Given the description of an element on the screen output the (x, y) to click on. 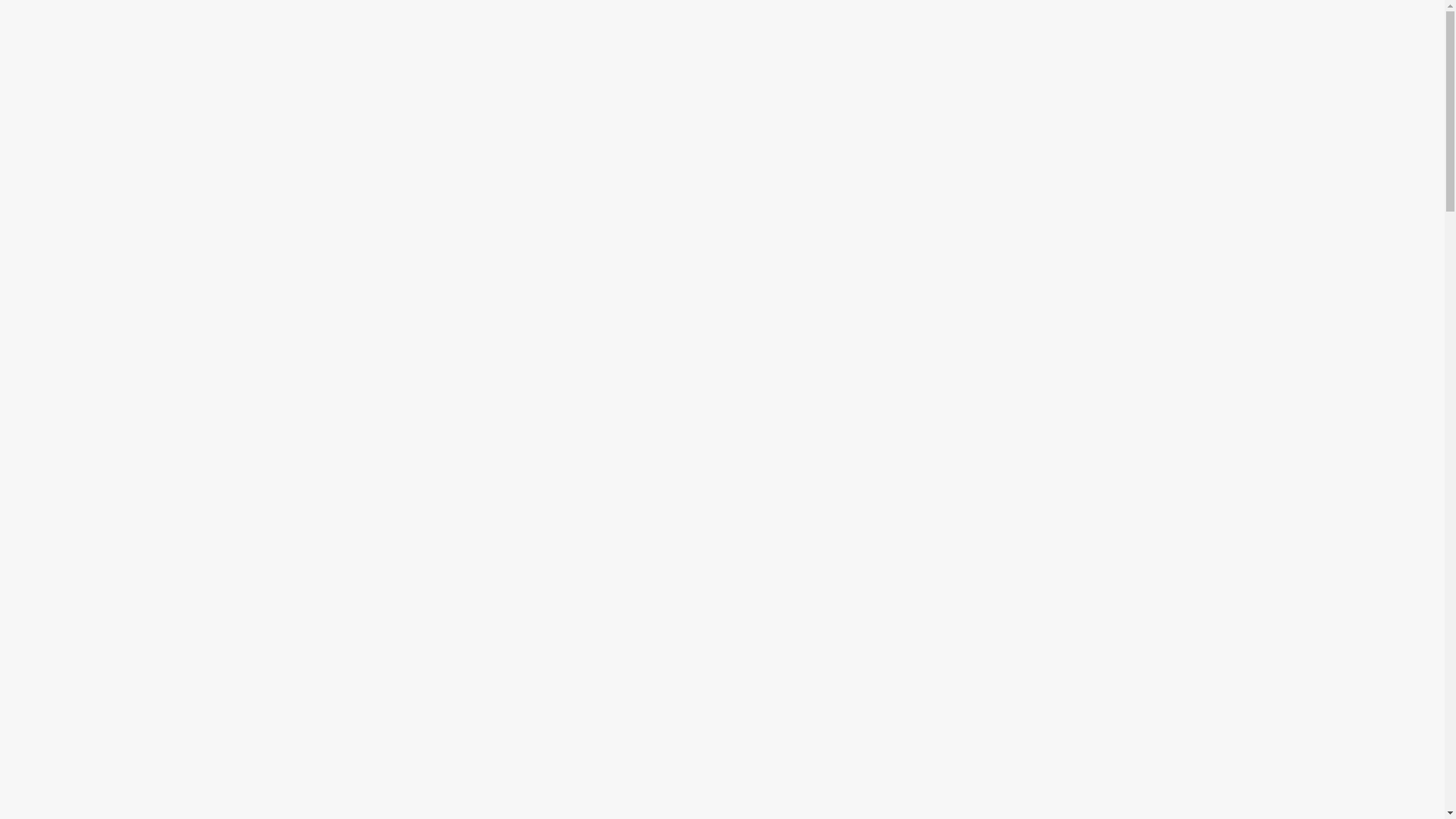
8 996 74-29-911 Element type: text (1159, 120)
